Given the description of an element on the screen output the (x, y) to click on. 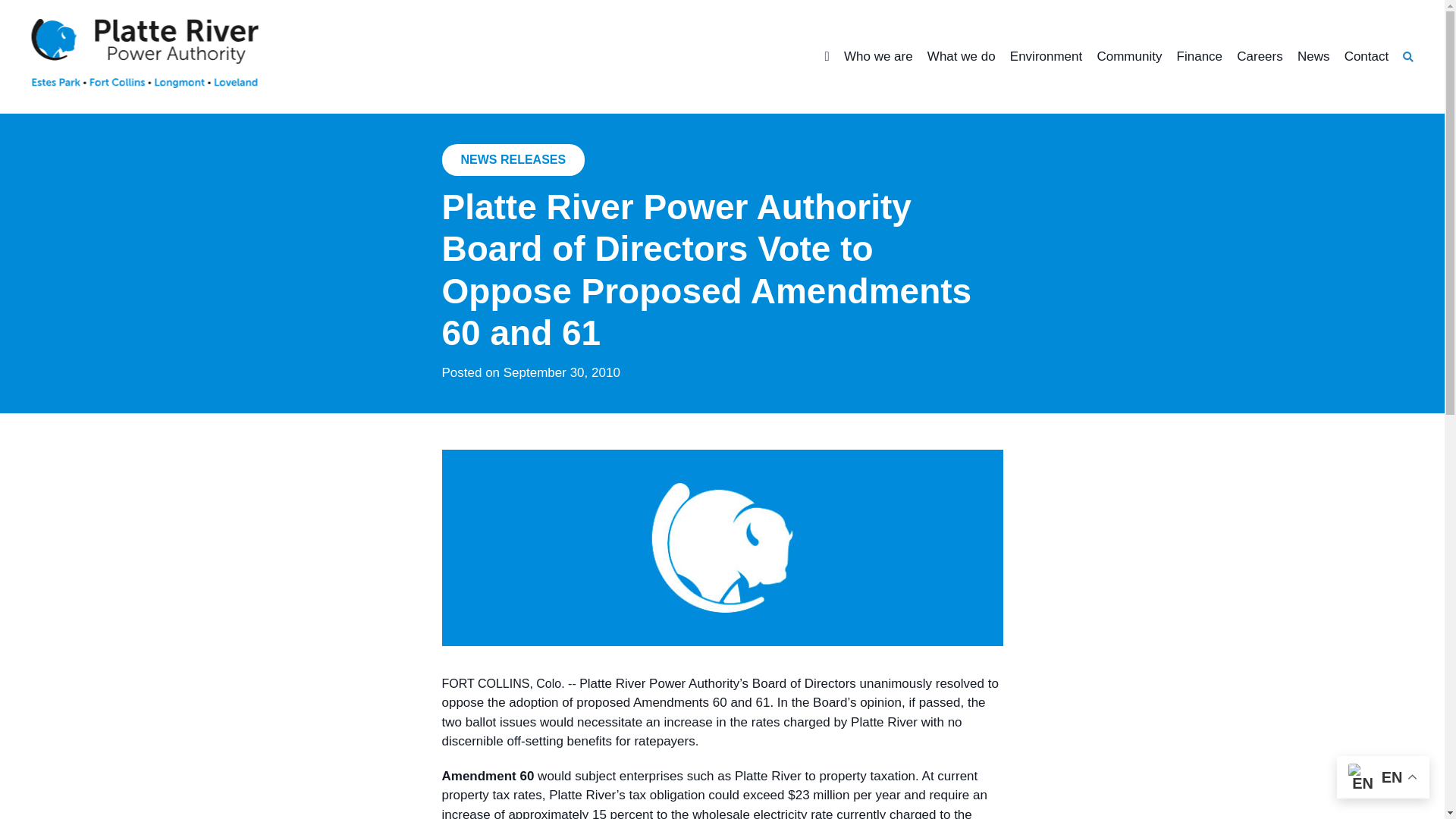
What we do (961, 56)
Who we are (877, 56)
Community (1129, 56)
Environment (1046, 56)
